Given the description of an element on the screen output the (x, y) to click on. 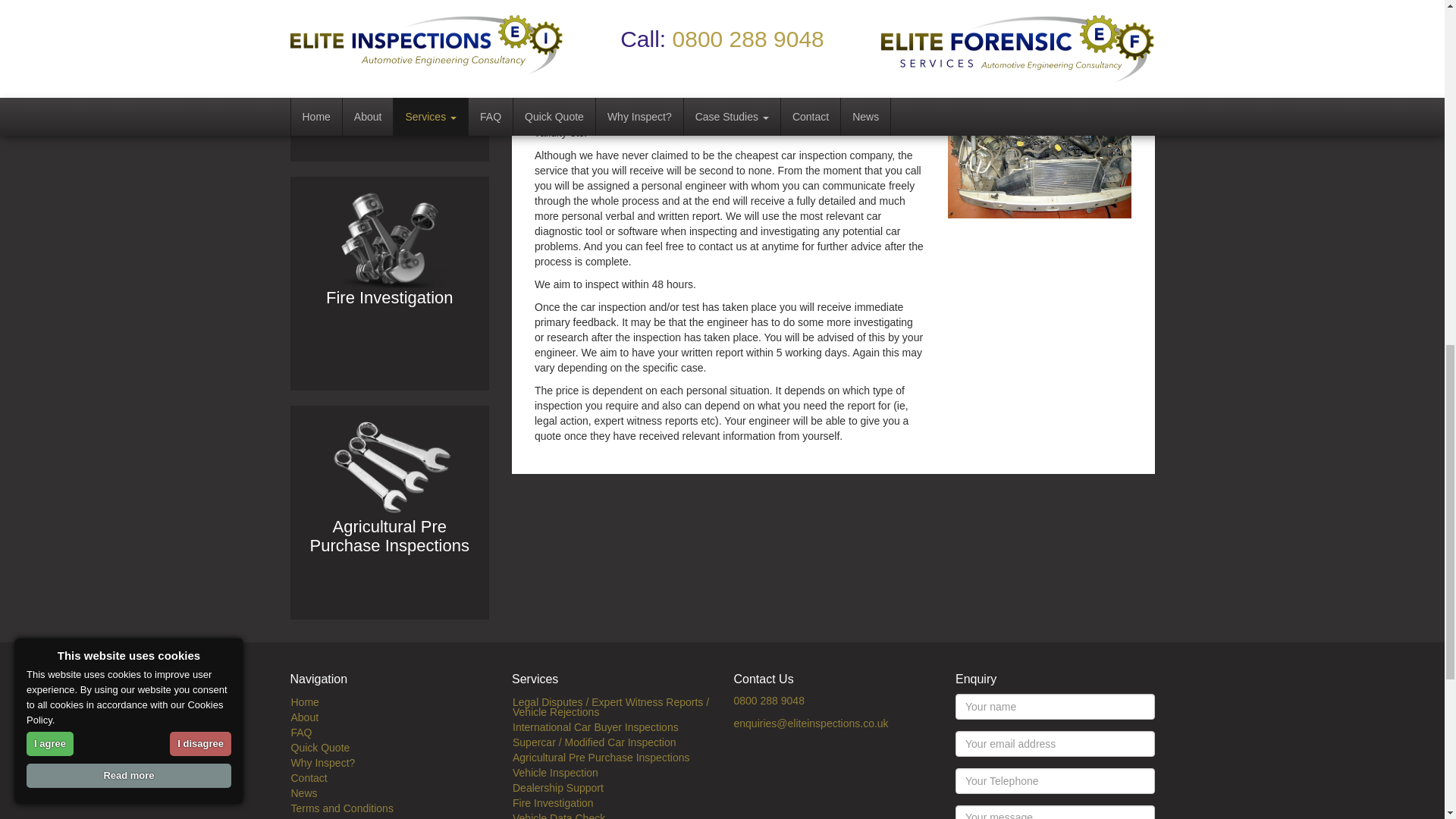
Car Diagnostic (1039, 150)
Car Repair (1039, 40)
Fire Investigation (389, 239)
Agricultural Pre Purchase Inspections (389, 468)
